Given the description of an element on the screen output the (x, y) to click on. 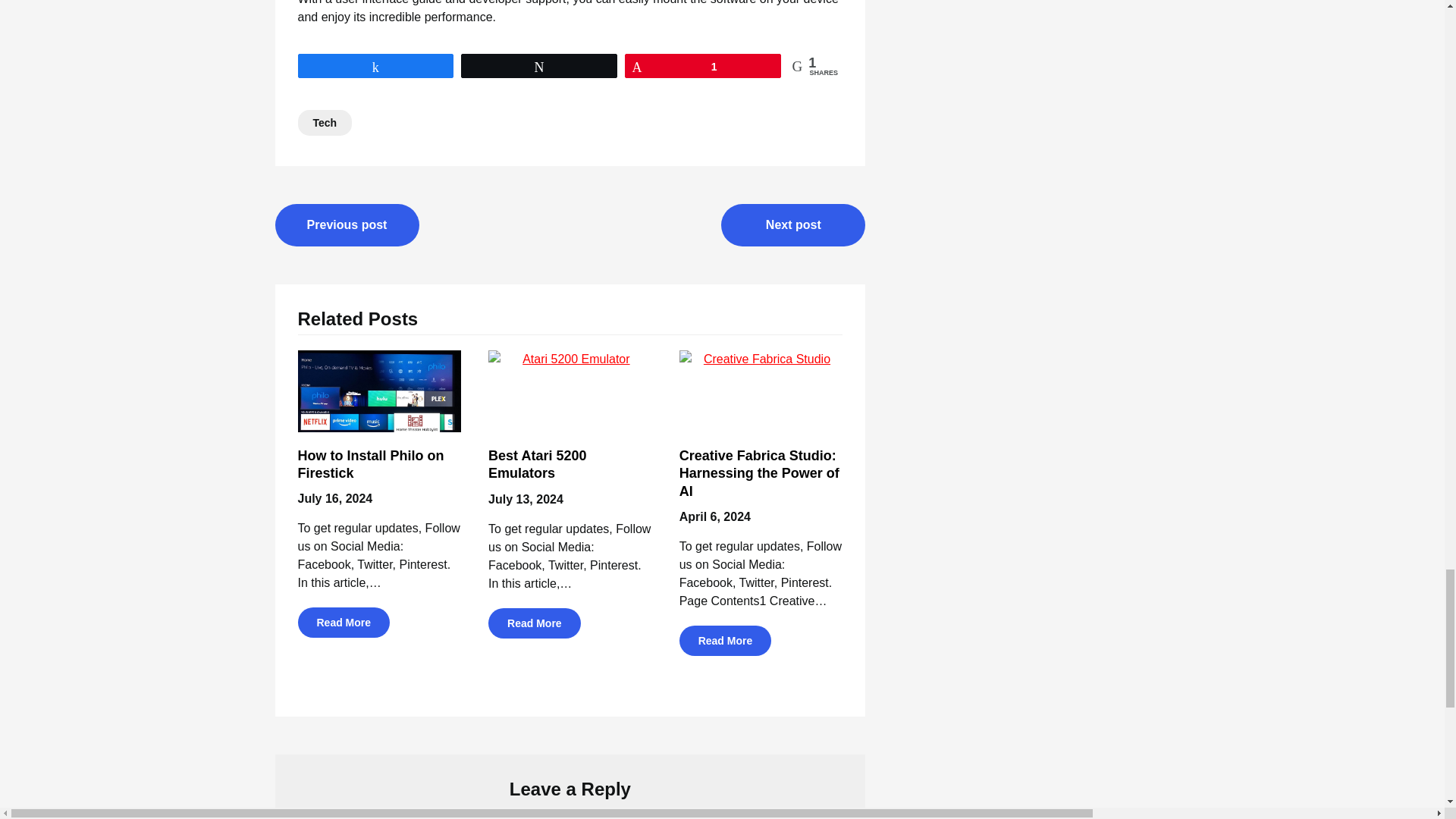
Previous post (347, 224)
Tech (324, 122)
Next post (792, 224)
1 (703, 65)
